Given the description of an element on the screen output the (x, y) to click on. 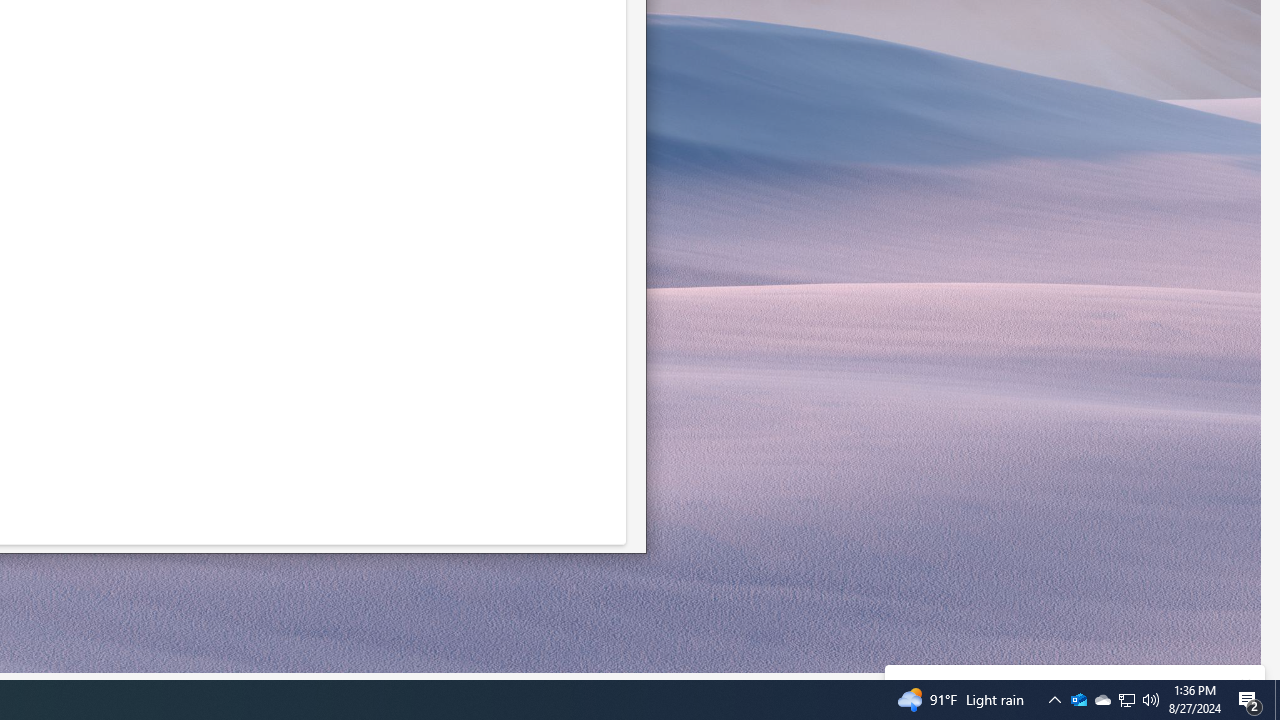
System Promoted Notification Area (1126, 699)
Show desktop (1078, 699)
Microsoft Outlook (1277, 699)
Q2790: 100% (1078, 699)
Action Center, 2 new notifications (1151, 699)
Notification Chevron (1250, 699)
User Promoted Notification Area (1055, 699)
